Given the description of an element on the screen output the (x, y) to click on. 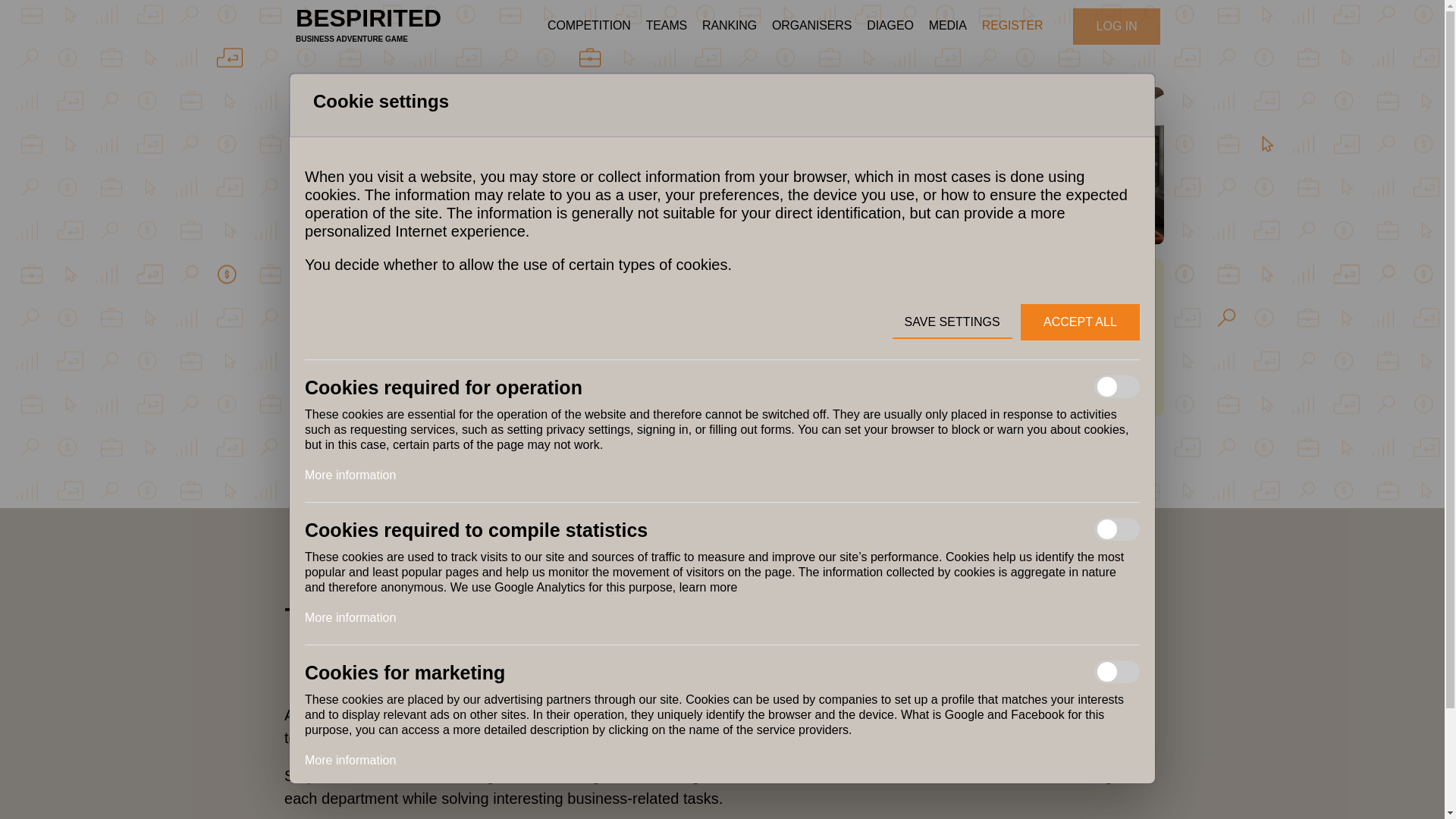
TEAMS (666, 25)
REGISTER (1012, 25)
ORGANISERS (811, 25)
Facebook (368, 25)
More information (1038, 714)
More information (350, 617)
APPLY NOW! (350, 474)
COMPETITION (726, 337)
RANKING (589, 25)
More information (729, 25)
learn more (350, 759)
ACCEPT ALL (708, 586)
DIAGEO (1080, 321)
Google (889, 25)
